Given the description of an element on the screen output the (x, y) to click on. 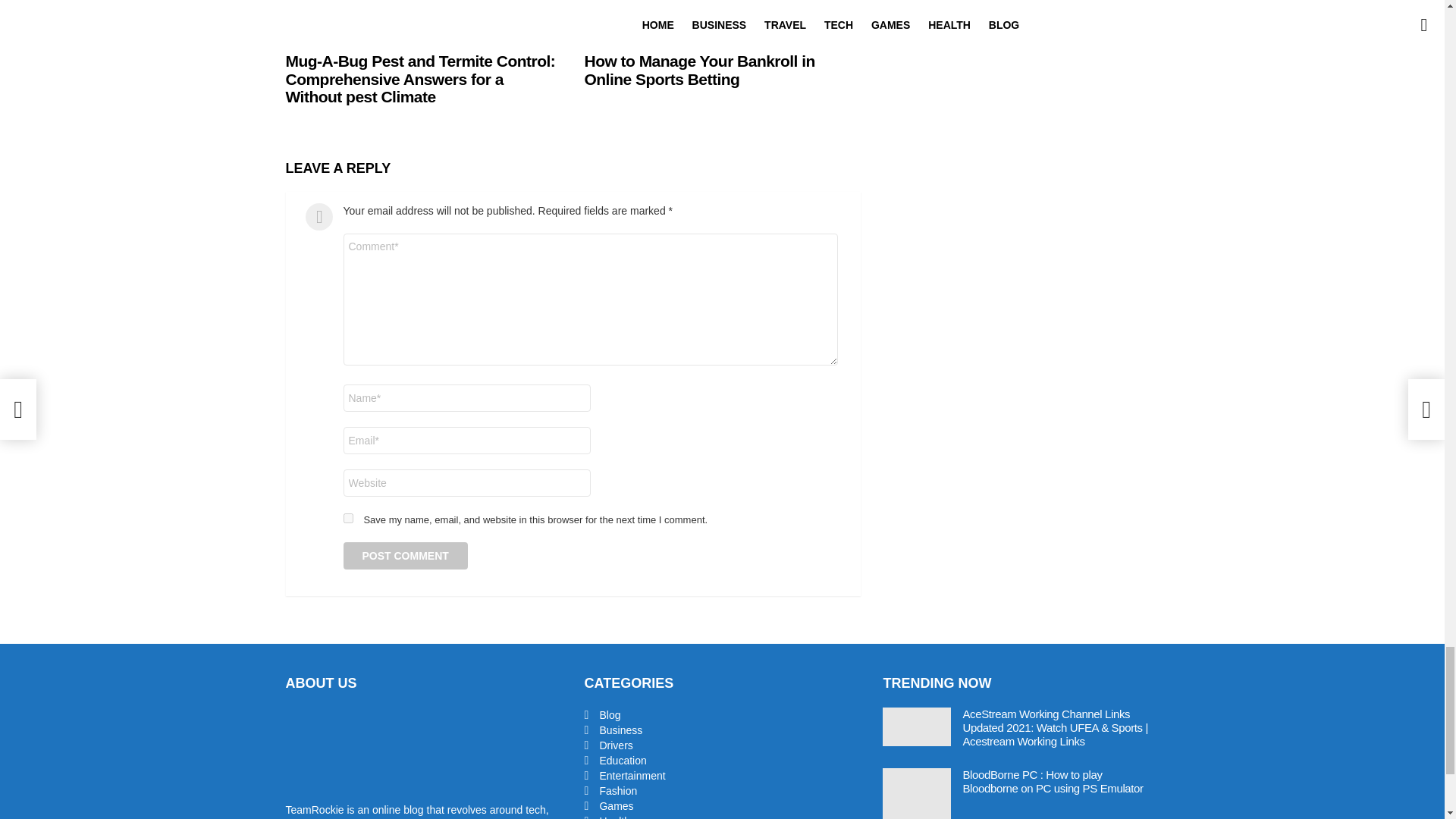
BUSINESS (317, 35)
How to Manage Your Bankroll in Online Sports Betting (721, 21)
yes (347, 518)
Post Comment (404, 555)
